Given the description of an element on the screen output the (x, y) to click on. 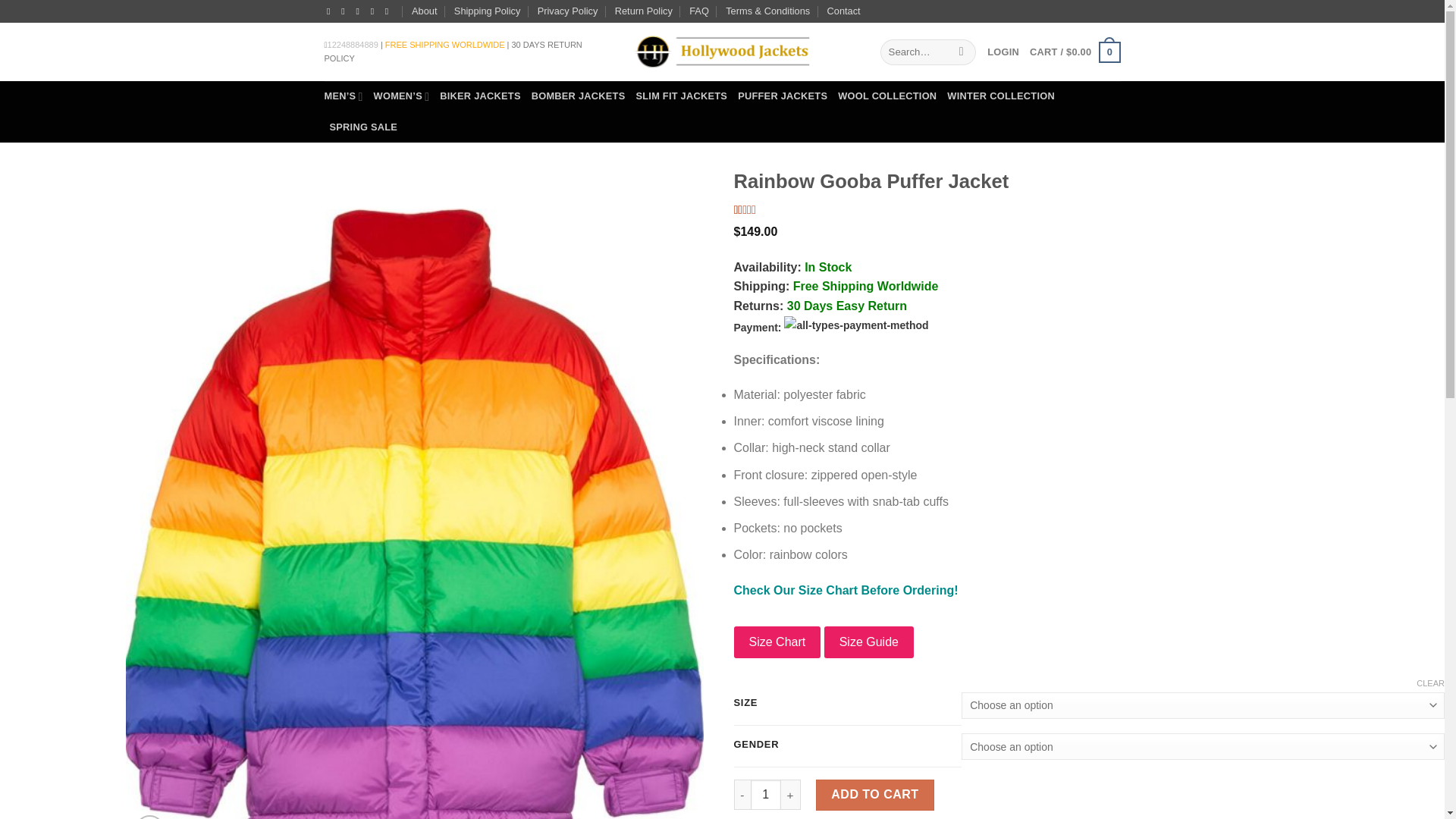
1 (765, 794)
LOGIN (1003, 51)
Search (961, 52)
Cart (1074, 52)
About (424, 11)
Hollywood Jackets - Hollywood Jackets (721, 52)
Privacy Policy (567, 11)
Contact (843, 11)
